Given the description of an element on the screen output the (x, y) to click on. 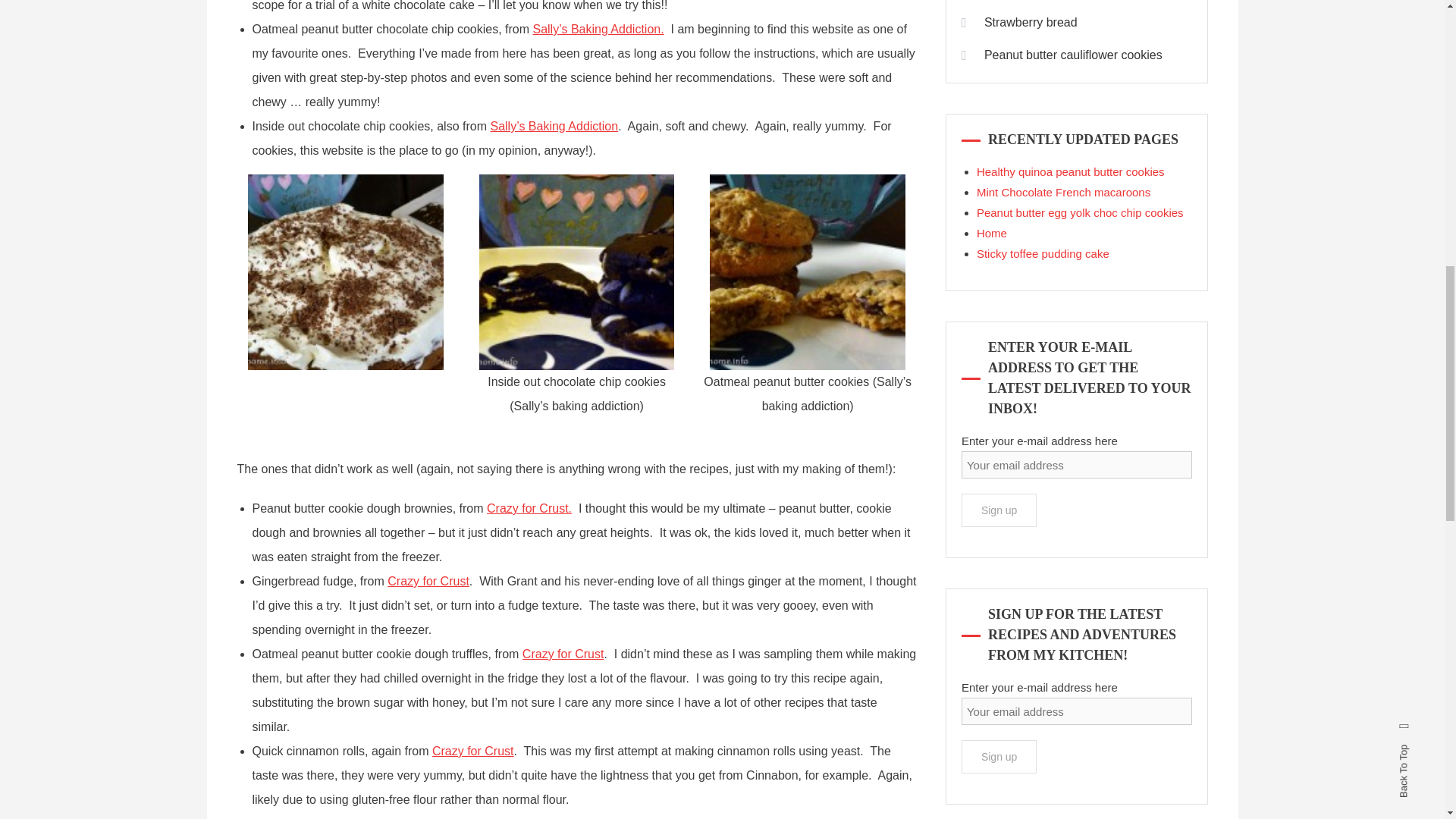
Healthy quinoa peanut butter cookies (1070, 171)
Peanut butter egg yolk choc chip cookies (1079, 212)
Sign up (998, 510)
Sign up (998, 756)
Sticky toffee pudding cake (1042, 253)
Home (991, 232)
Mint Chocolate French macaroons (1063, 192)
